Given the description of an element on the screen output the (x, y) to click on. 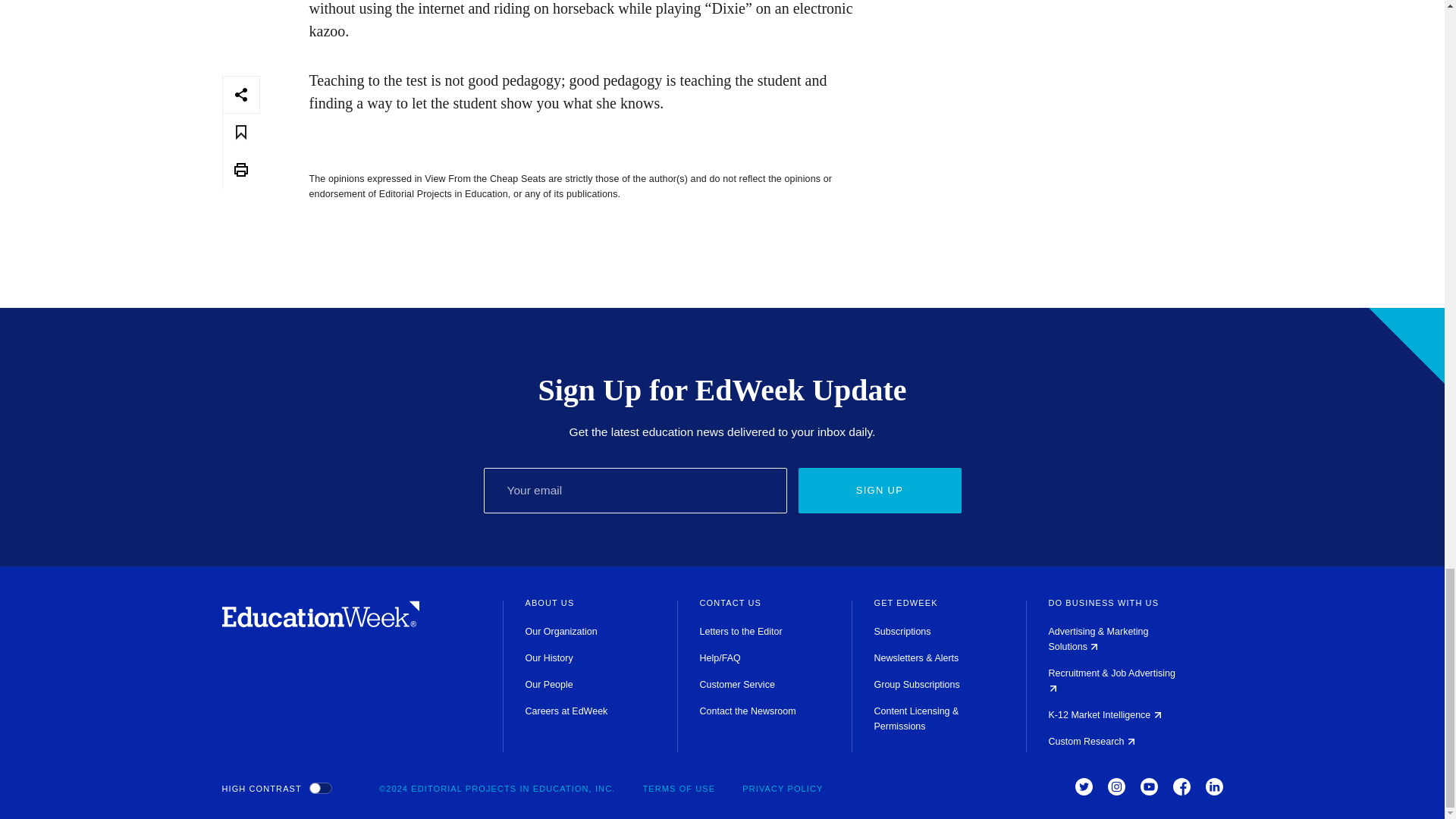
Homepage (320, 623)
